Given the description of an element on the screen output the (x, y) to click on. 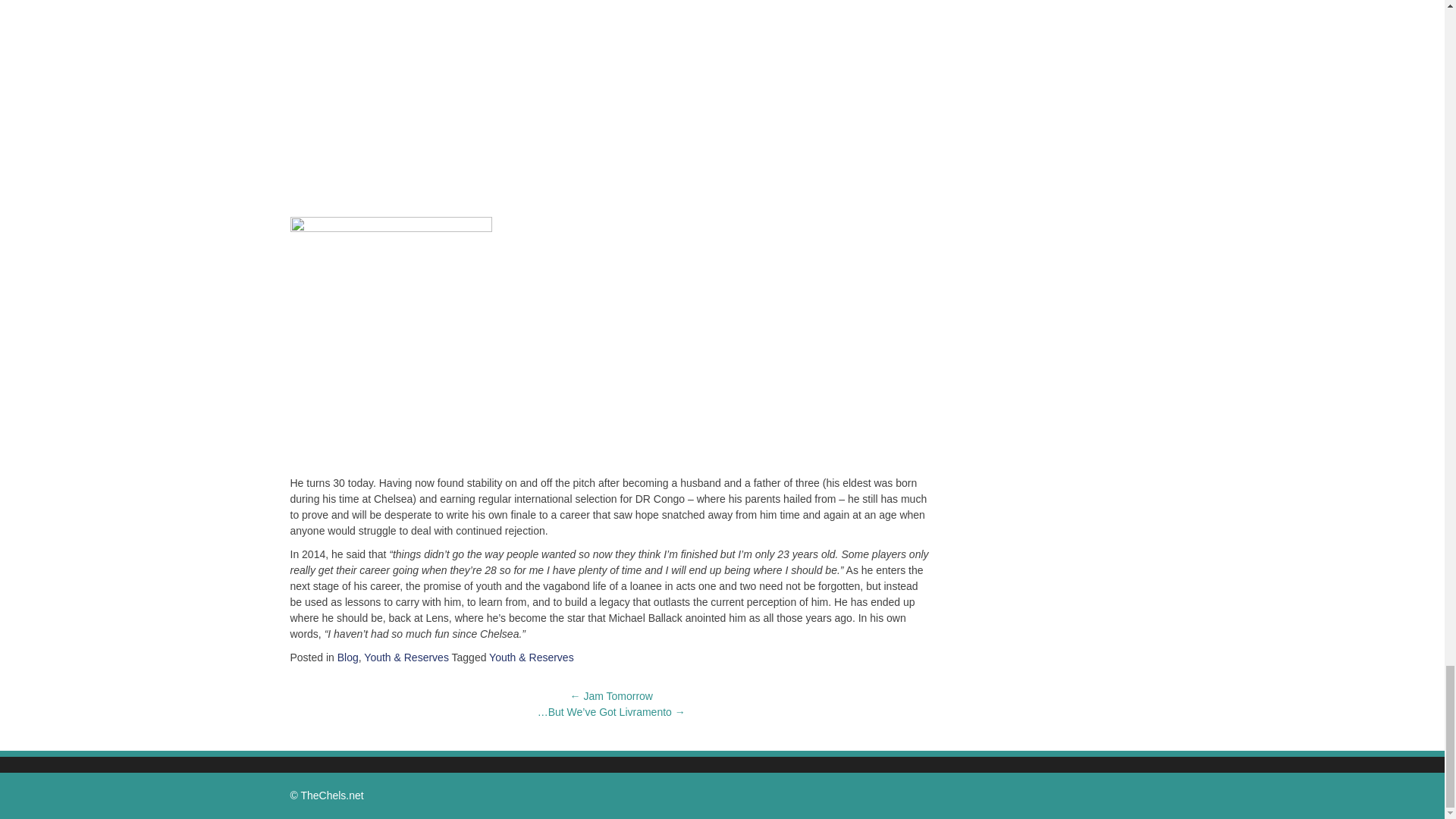
Blog (347, 657)
YouTube video player (501, 102)
